Given the description of an element on the screen output the (x, y) to click on. 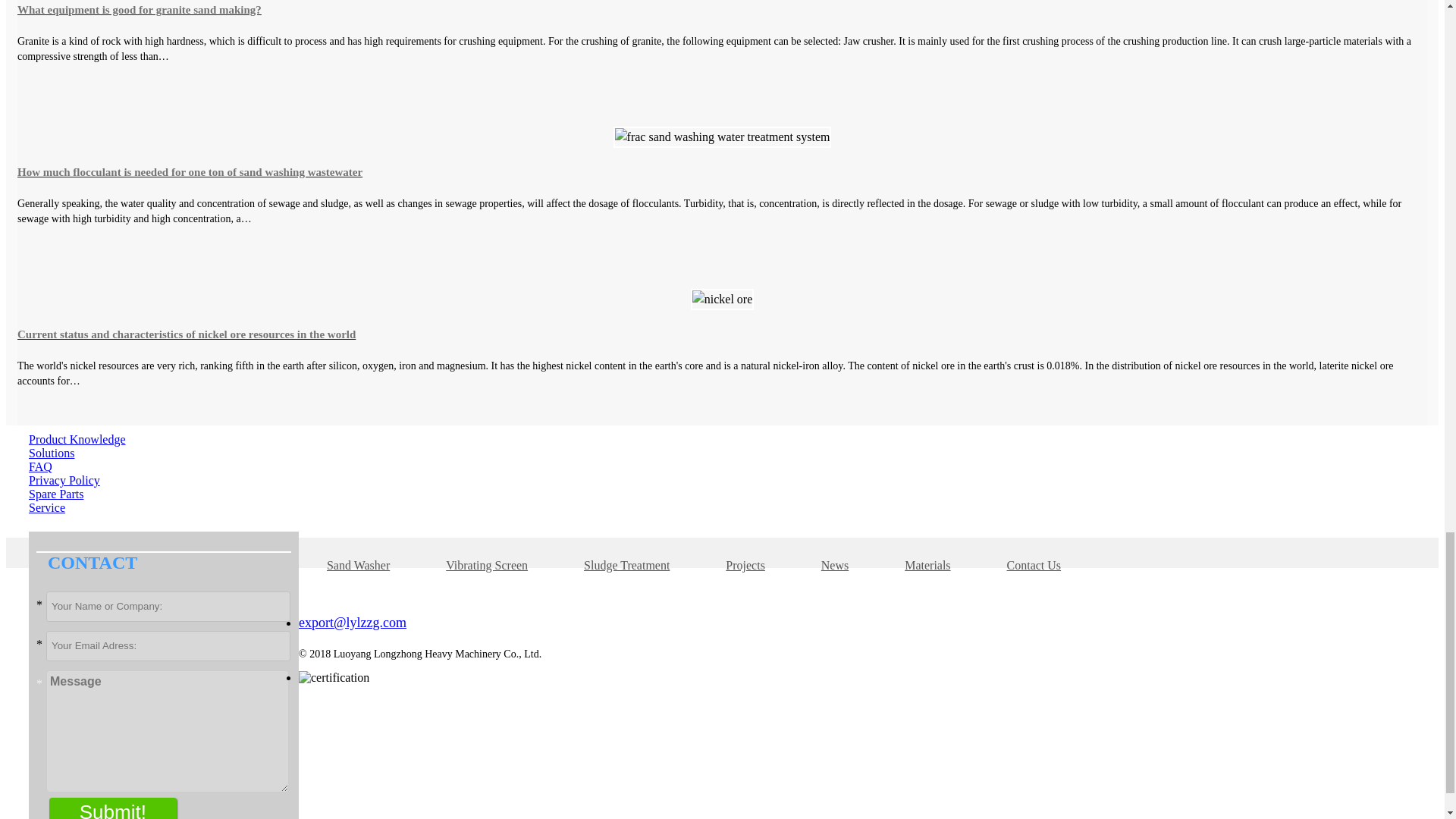
Sand Washer (358, 564)
Service (47, 507)
Submit! (112, 808)
What equipment is good for granite sand making? (721, 9)
Solutions (51, 452)
Privacy Policy (64, 480)
Spare Parts (55, 493)
Submit! (112, 808)
Product Knowledge (77, 439)
FAQ (40, 466)
